Given the description of an element on the screen output the (x, y) to click on. 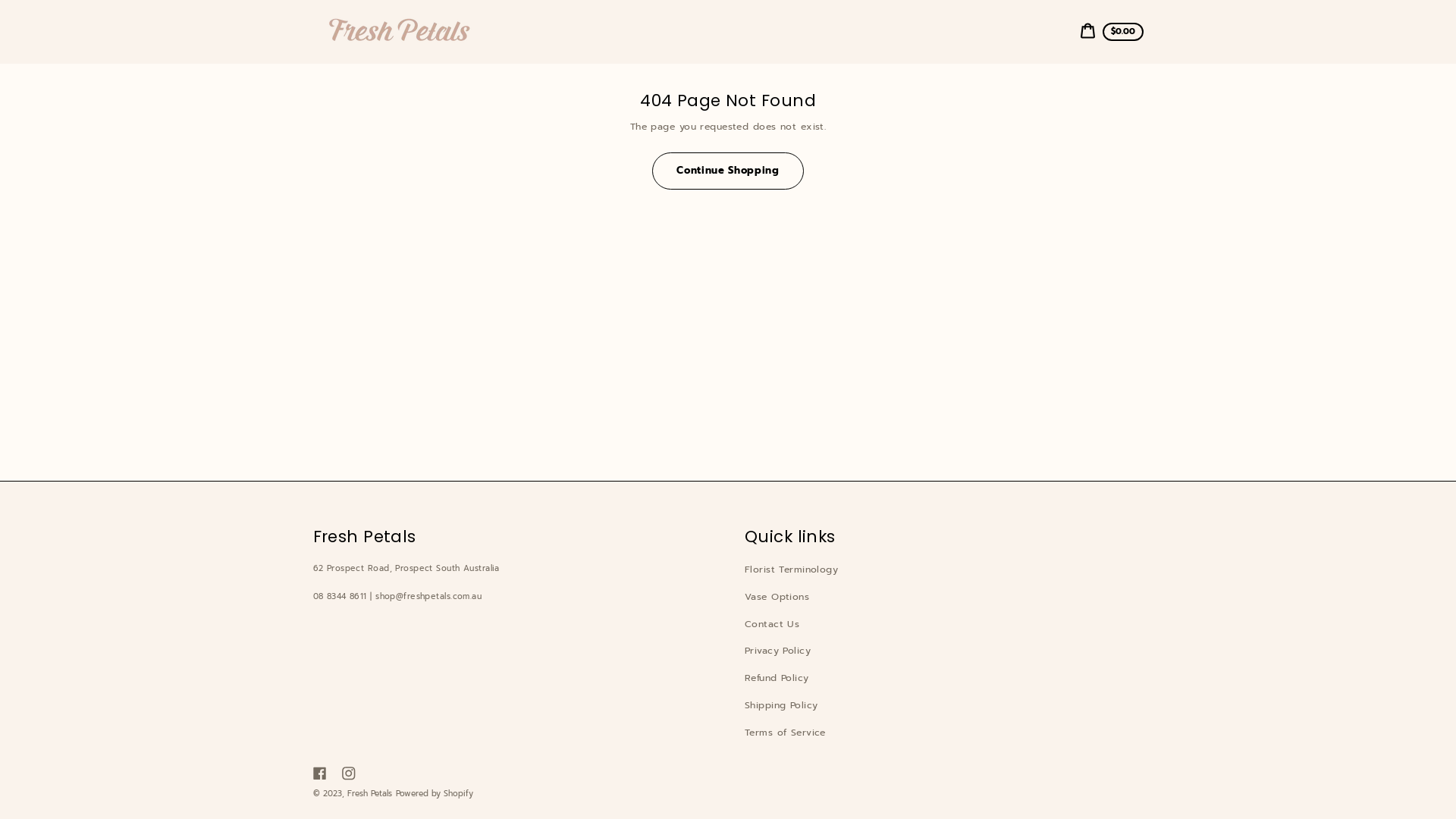
Vase Options Element type: text (776, 596)
Privacy Policy Element type: text (777, 650)
Powered by Shopify Element type: text (434, 793)
Terms of Service Element type: text (784, 732)
Instagram Element type: text (348, 772)
Florist Terminology Element type: text (790, 569)
Fresh Petals Element type: text (369, 793)
Contact Us Element type: text (771, 623)
Facebook Element type: text (319, 772)
Refund Policy Element type: text (776, 677)
Shipping Policy Element type: text (781, 705)
Continue Shopping Element type: text (727, 170)
Cart
Cart price
$0.00 Element type: text (1111, 31)
